Given the description of an element on the screen output the (x, y) to click on. 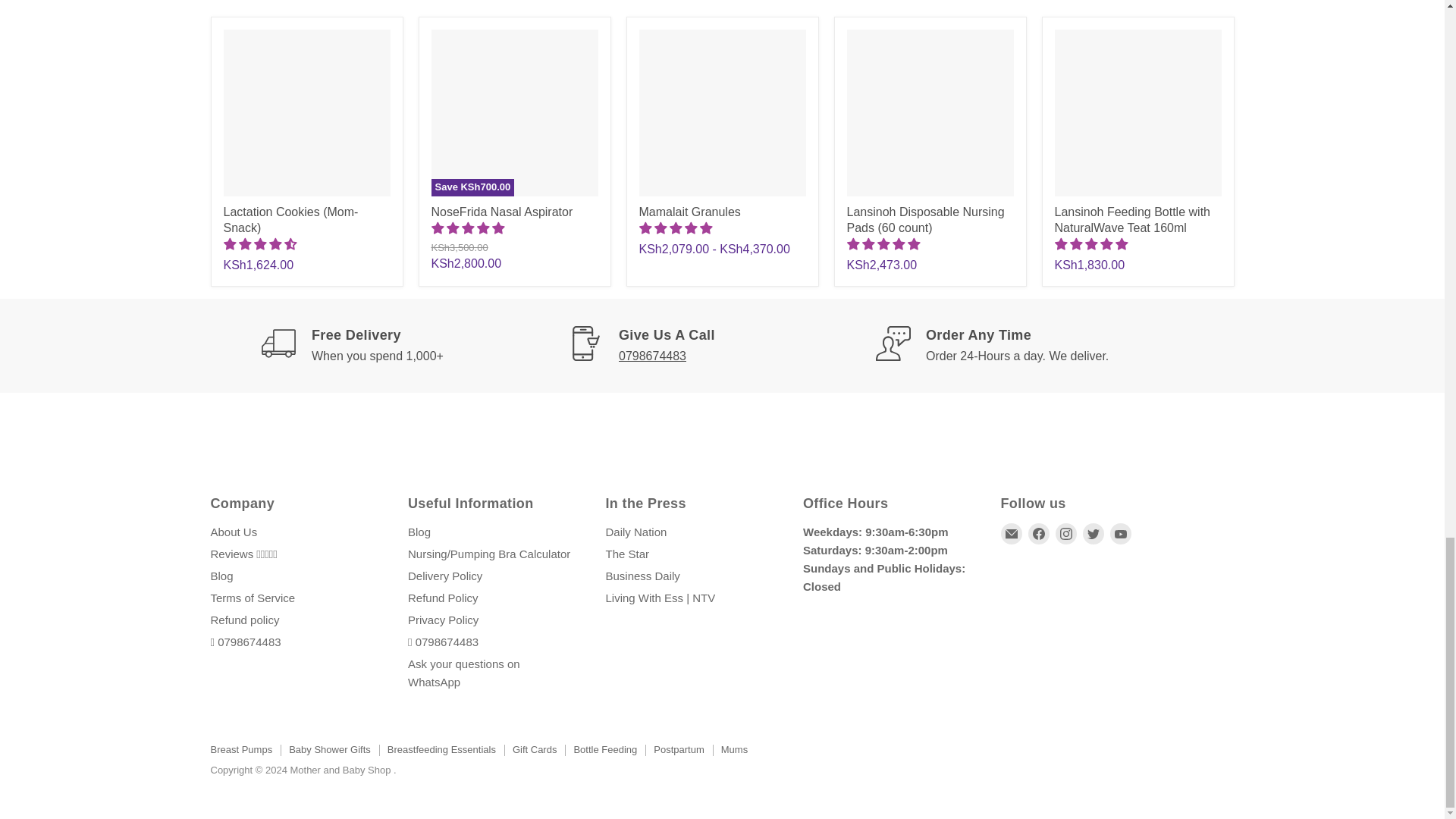
Twitter (1093, 533)
Instagram (1066, 533)
Facebook (1038, 533)
YouTube (1120, 533)
Email (1011, 533)
